Given the description of an element on the screen output the (x, y) to click on. 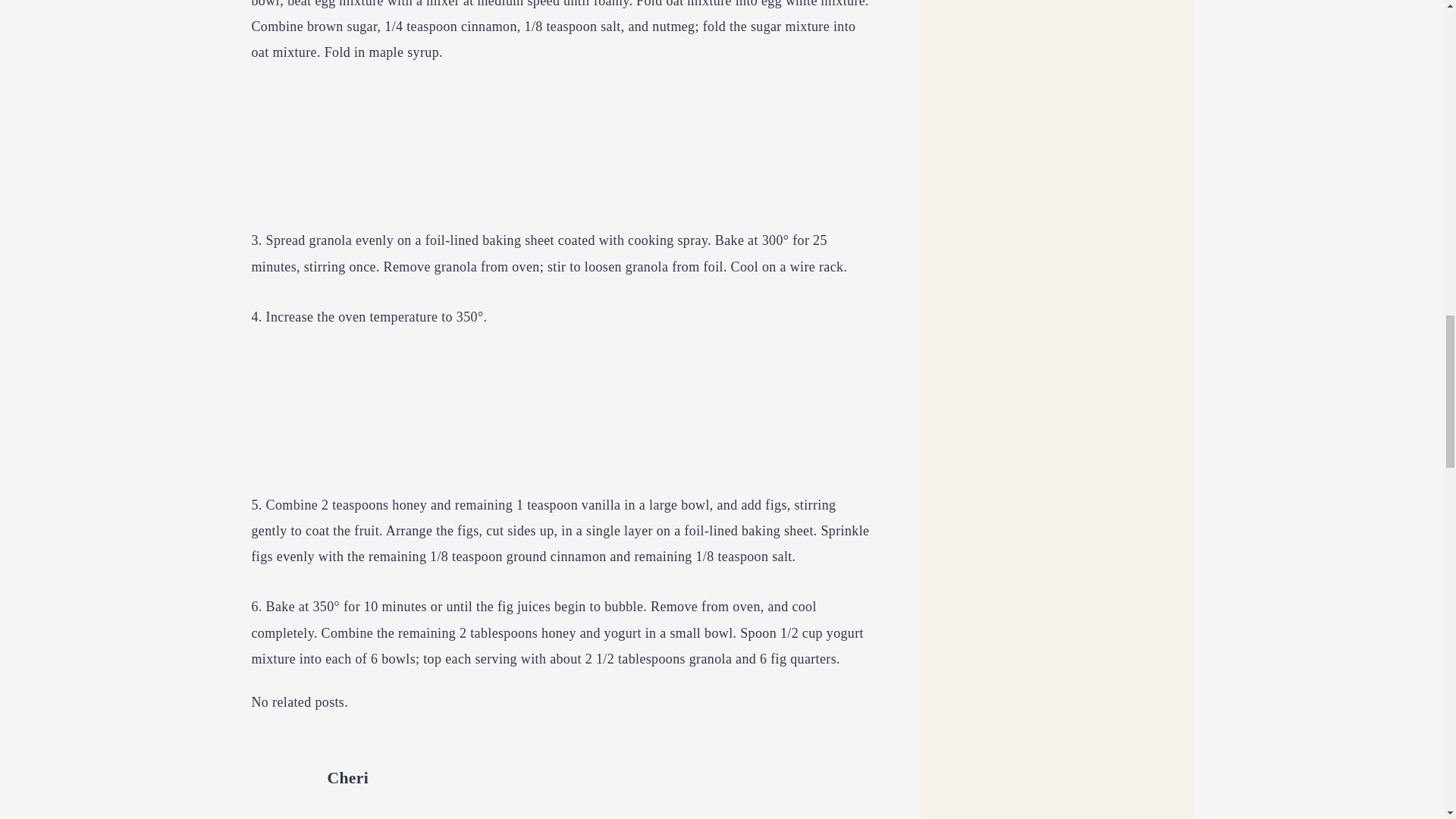
Figs on Baking Sheet (561, 410)
Posts by Cheri (348, 778)
Cheri (348, 778)
